Given the description of an element on the screen output the (x, y) to click on. 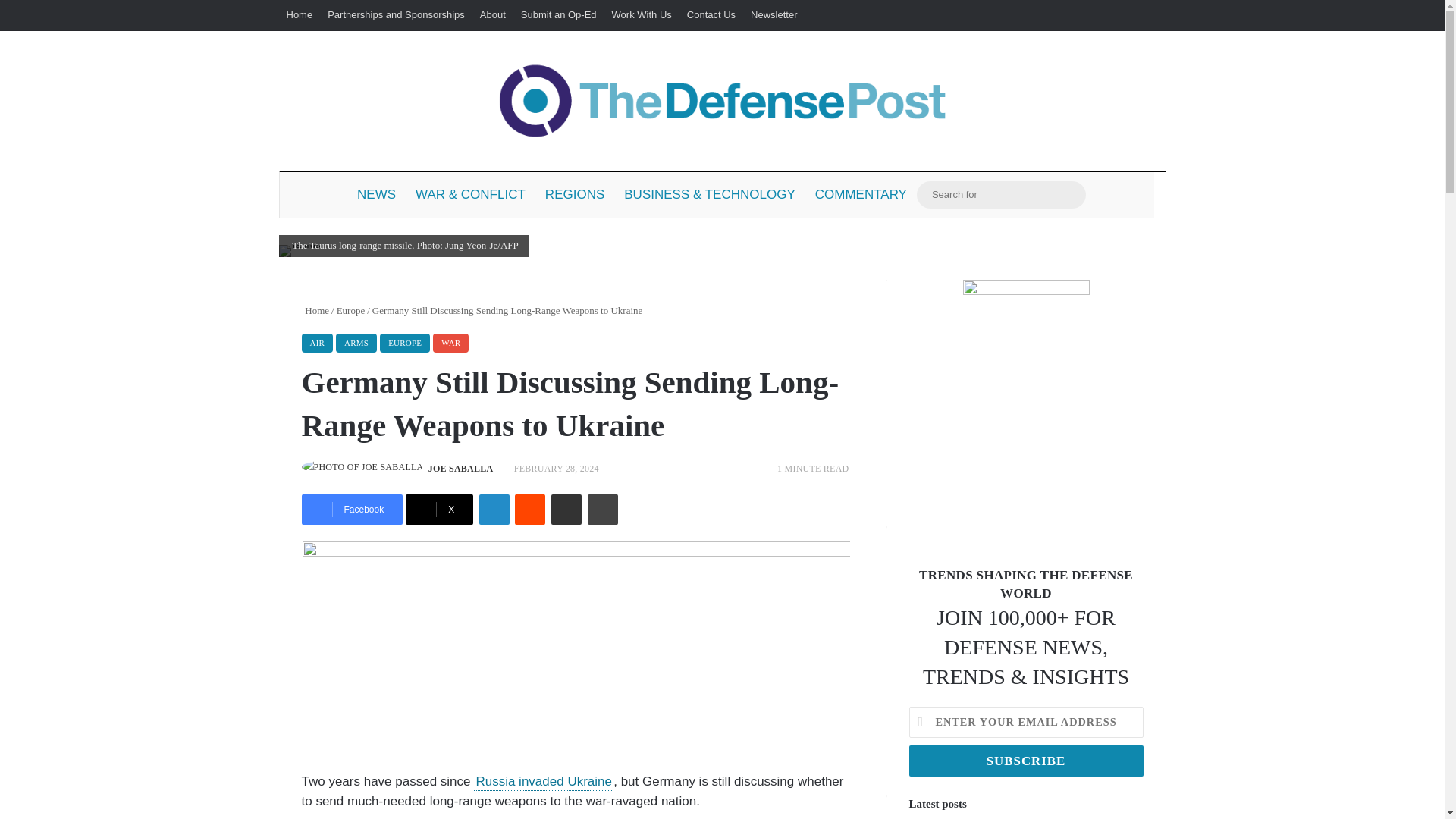
About (492, 15)
EUROPE (404, 342)
Submit an Op-Ed (558, 15)
Contact Us (710, 15)
X (439, 509)
Home (315, 310)
Facebook (352, 509)
NEWS (376, 194)
LinkedIn (494, 509)
ARMS (356, 342)
